Given the description of an element on the screen output the (x, y) to click on. 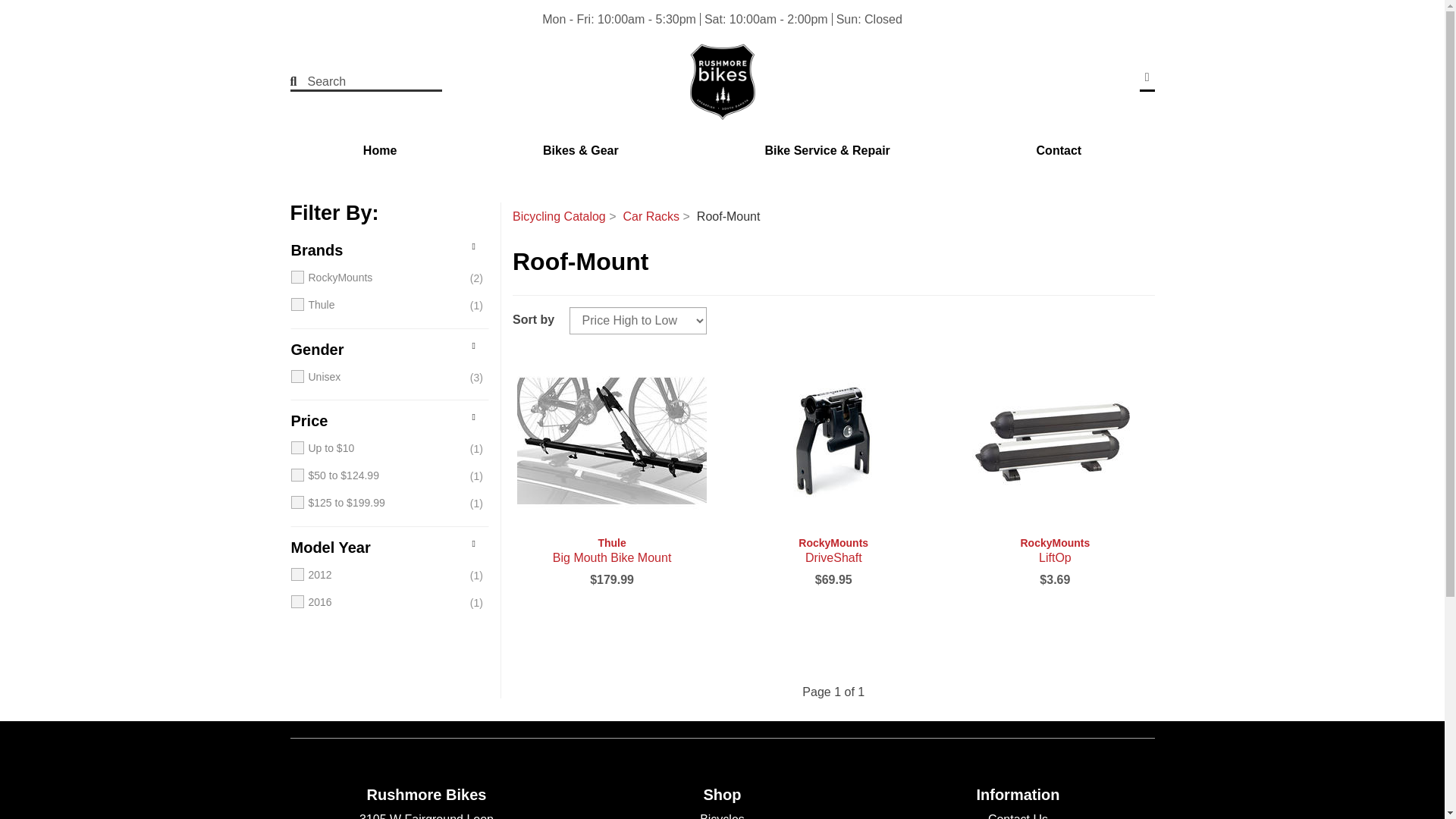
RockyMounts LiftOp (1054, 550)
Search (356, 81)
Thule Big Mouth Bike Mount (611, 550)
RockyMounts LiftOp (1054, 440)
Thule Big Mouth Bike Mount (611, 440)
Home (379, 151)
RockyMounts DriveShaft (833, 440)
RockyMounts DriveShaft (833, 550)
Rushmore Bikes Home Page (721, 81)
